Given the description of an element on the screen output the (x, y) to click on. 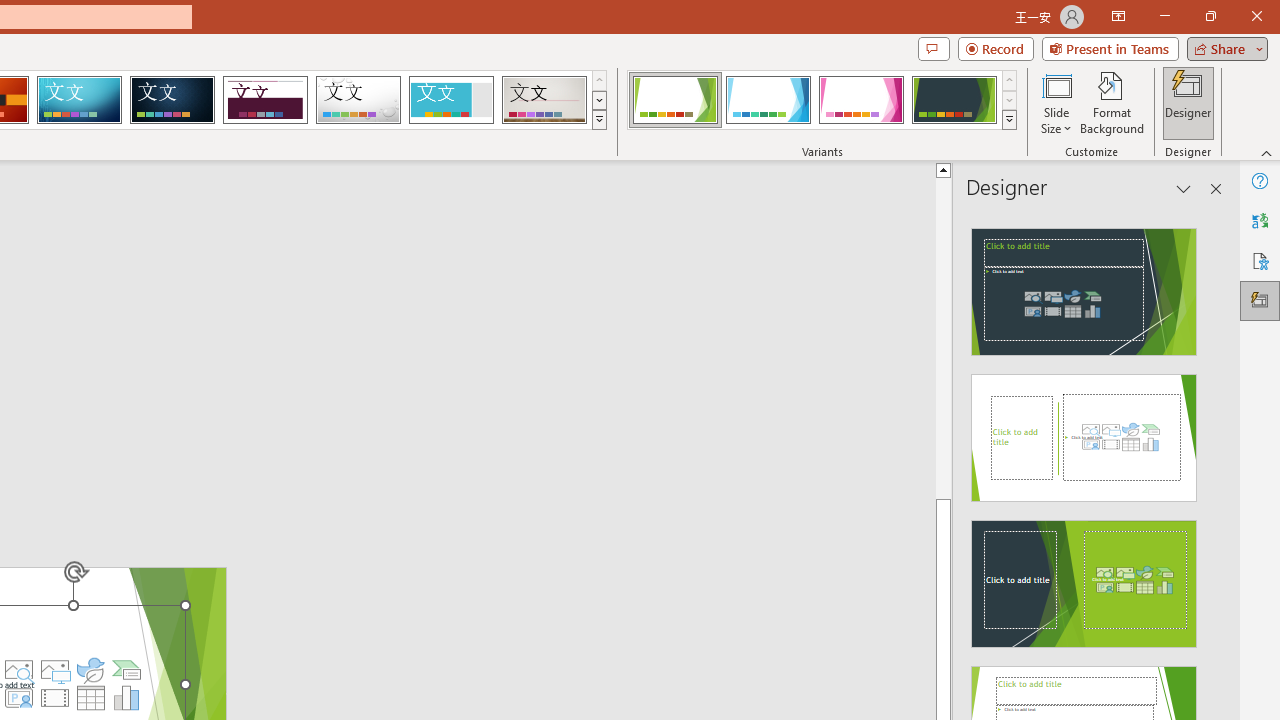
Facet Variant 4 (953, 100)
Circuit (79, 100)
Droplet (358, 100)
Damask (171, 100)
